Given the description of an element on the screen output the (x, y) to click on. 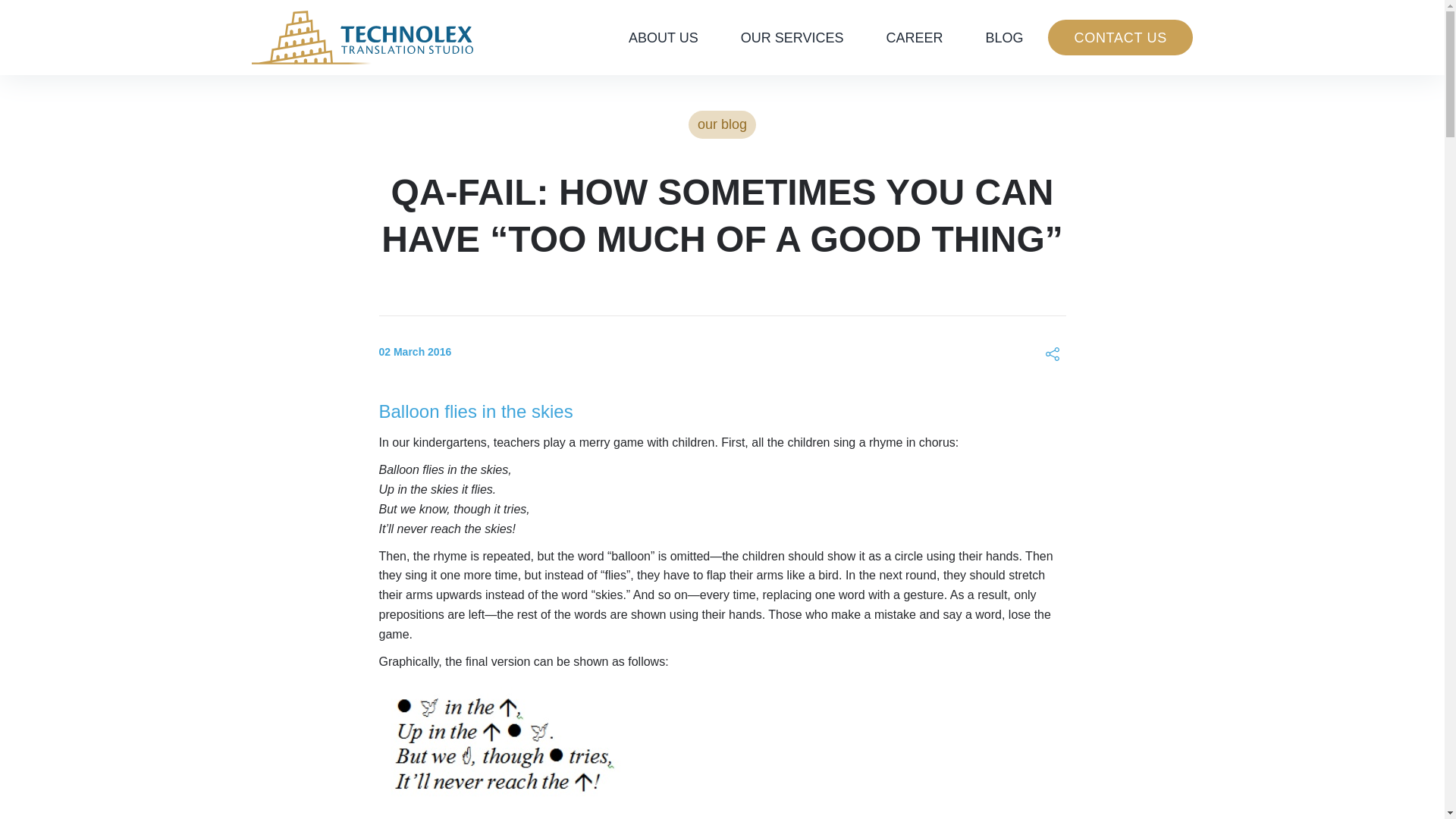
CAREER (913, 37)
BLOG (1003, 37)
OUR SERVICES (791, 37)
Main Logo (362, 36)
ABOUT US (663, 37)
CONTACT US (1120, 37)
